Given the description of an element on the screen output the (x, y) to click on. 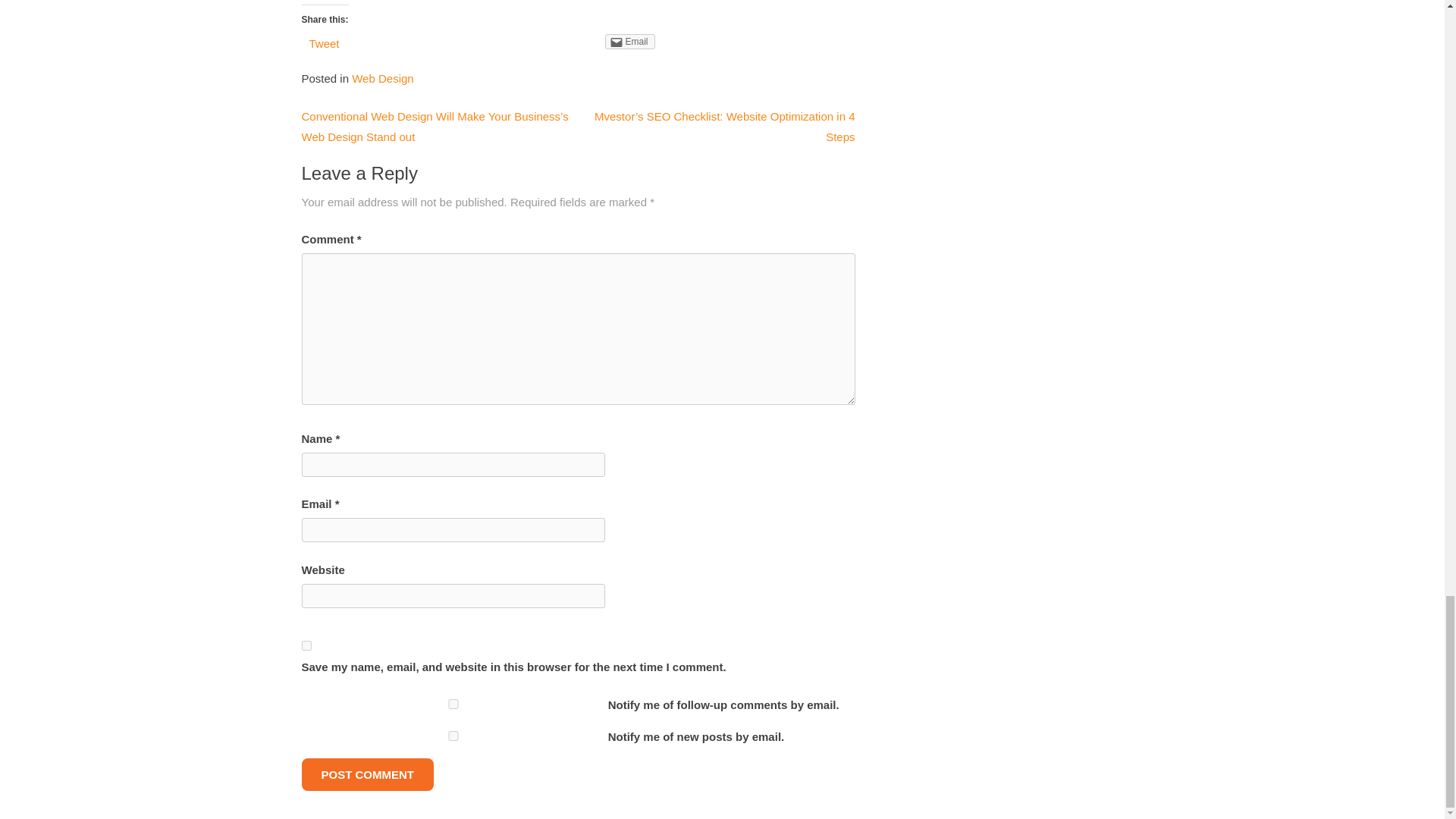
Email (630, 41)
Tweet (323, 42)
Post Comment (367, 774)
subscribe (453, 736)
subscribe (453, 704)
yes (306, 645)
Click to email a link to a friend (630, 41)
Post Comment (367, 774)
Web Design (382, 78)
